Given the description of an element on the screen output the (x, y) to click on. 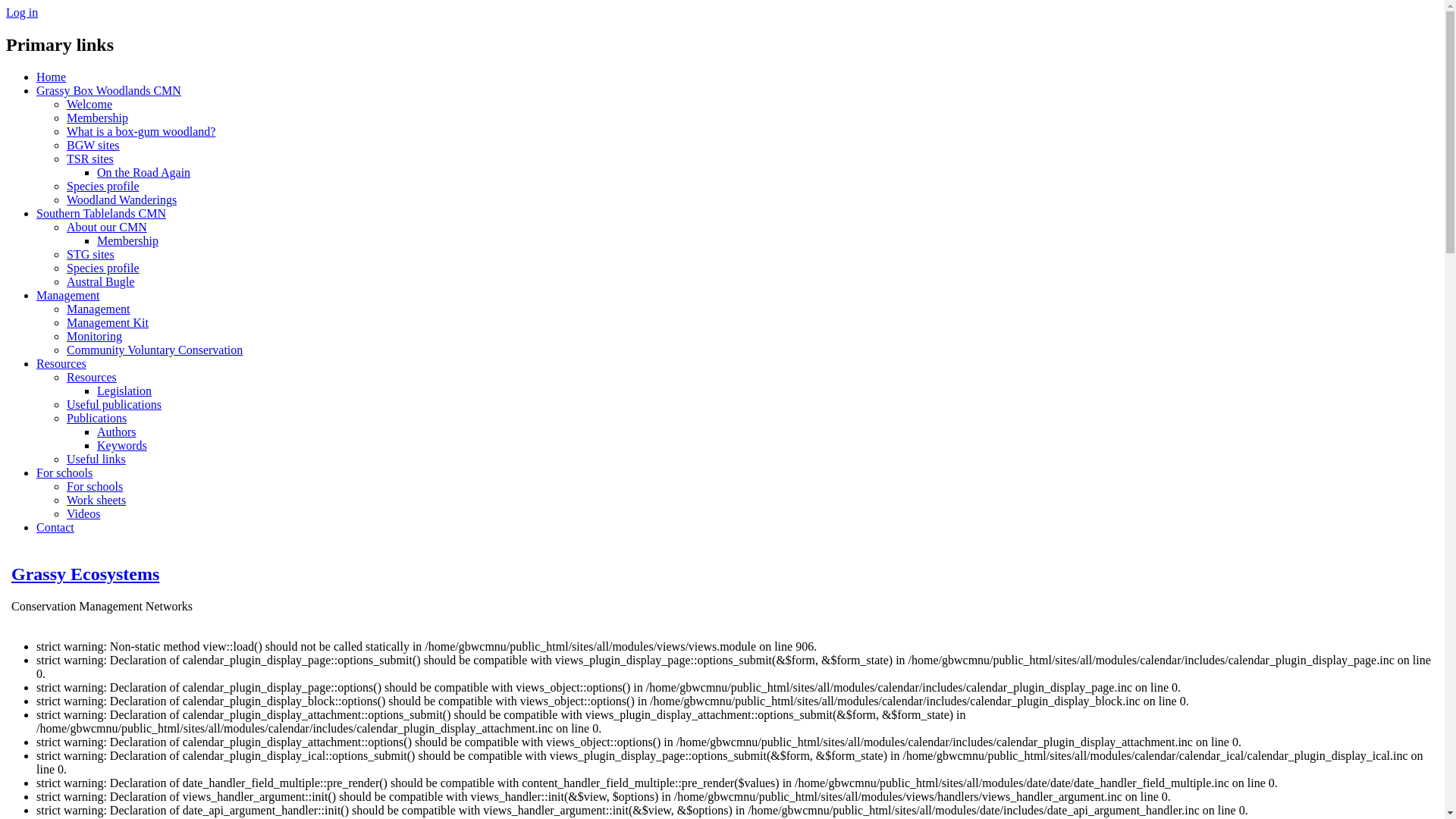
Contact Element type: text (55, 526)
Publications Element type: text (96, 417)
Grassy Box Woodlands CMN Element type: text (108, 90)
Management Element type: text (98, 308)
For schools Element type: text (94, 486)
Resources Element type: text (61, 363)
Community Voluntary Conservation Element type: text (154, 349)
Membership Element type: text (97, 117)
Species profile Element type: text (102, 185)
Monitoring Element type: text (94, 335)
For schools Element type: text (64, 472)
Useful publications Element type: text (113, 404)
Videos Element type: text (83, 513)
Membership Element type: text (127, 240)
Legislation Element type: text (124, 390)
Welcome Element type: text (89, 103)
Management Kit Element type: text (107, 322)
Woodland Wanderings Element type: text (121, 199)
Useful links Element type: text (95, 458)
TSR sites Element type: text (89, 158)
Grassy Ecosystems Element type: text (85, 573)
Management Element type: text (68, 294)
Resources Element type: text (91, 376)
Home Element type: text (50, 76)
BGW sites Element type: text (92, 144)
Southern Tablelands CMN Element type: text (101, 213)
Log in Element type: text (21, 12)
Authors Element type: text (116, 431)
Keywords Element type: text (122, 445)
Work sheets Element type: text (95, 499)
Austral Bugle Element type: text (100, 281)
STG sites Element type: text (90, 253)
Species profile Element type: text (102, 267)
What is a box-gum woodland? Element type: text (140, 131)
About our CMN Element type: text (106, 226)
On the Road Again Element type: text (143, 172)
